Given the description of an element on the screen output the (x, y) to click on. 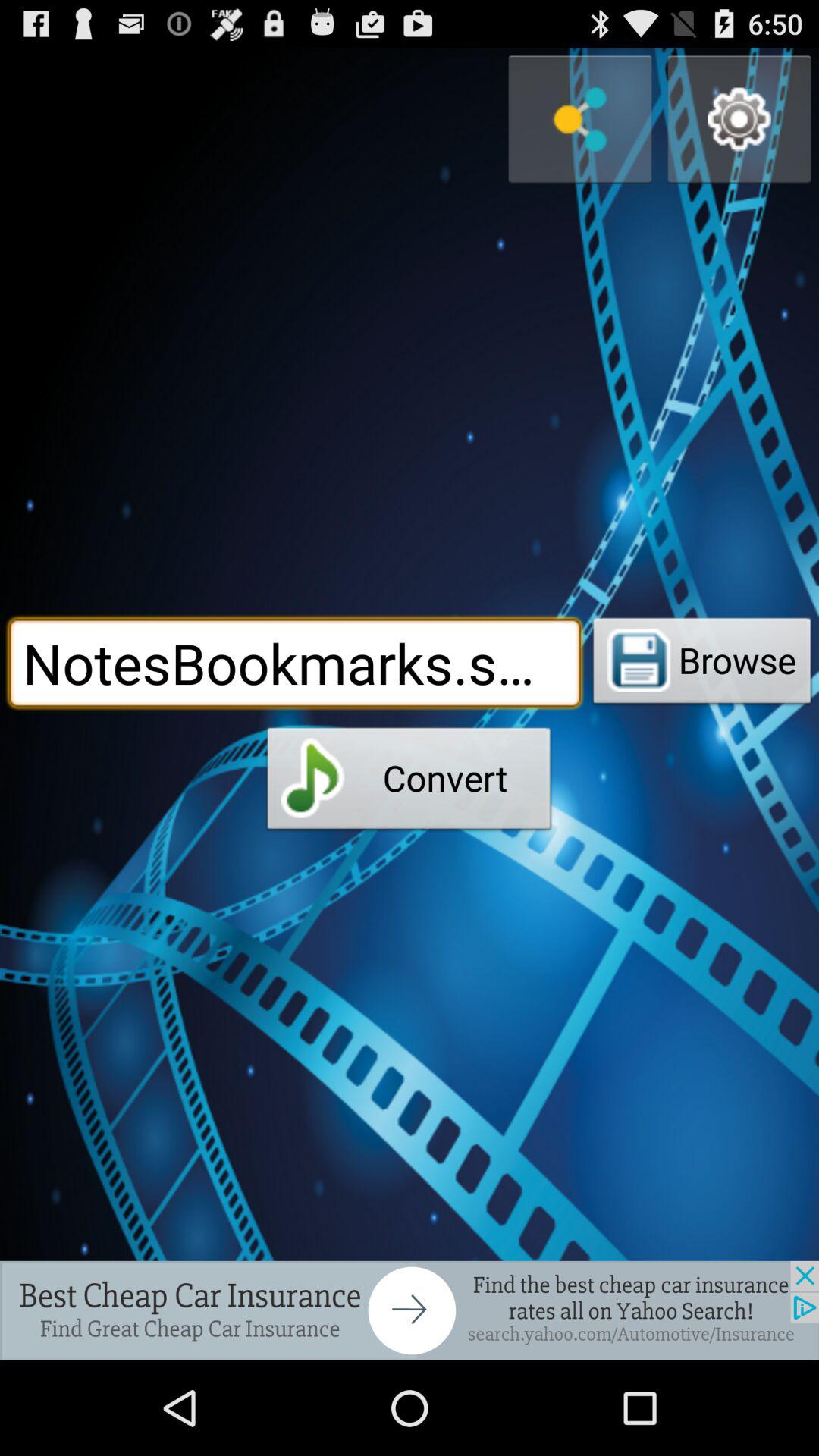
link it (579, 119)
